Given the description of an element on the screen output the (x, y) to click on. 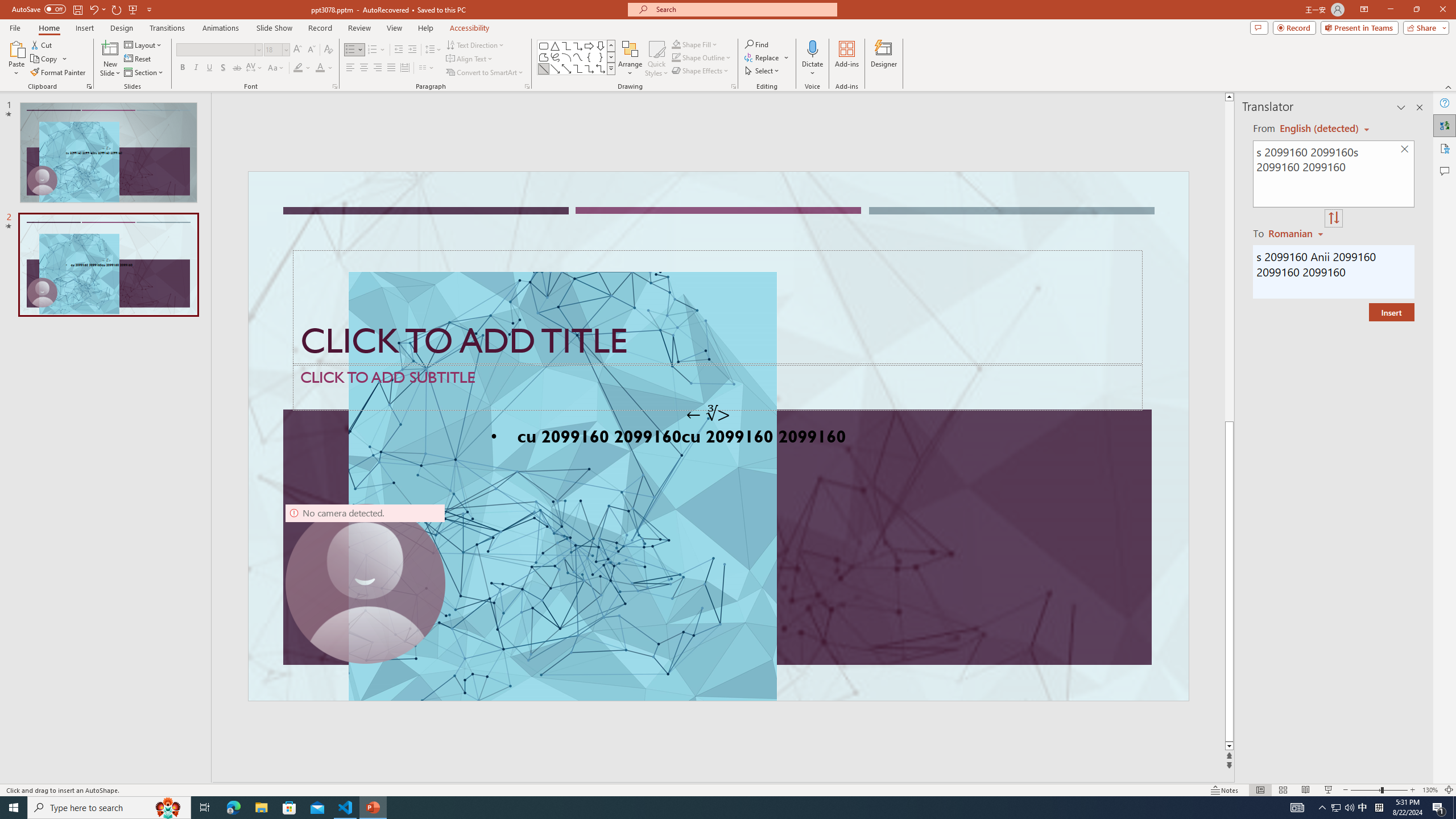
TextBox 61 (716, 438)
